Given the description of an element on the screen output the (x, y) to click on. 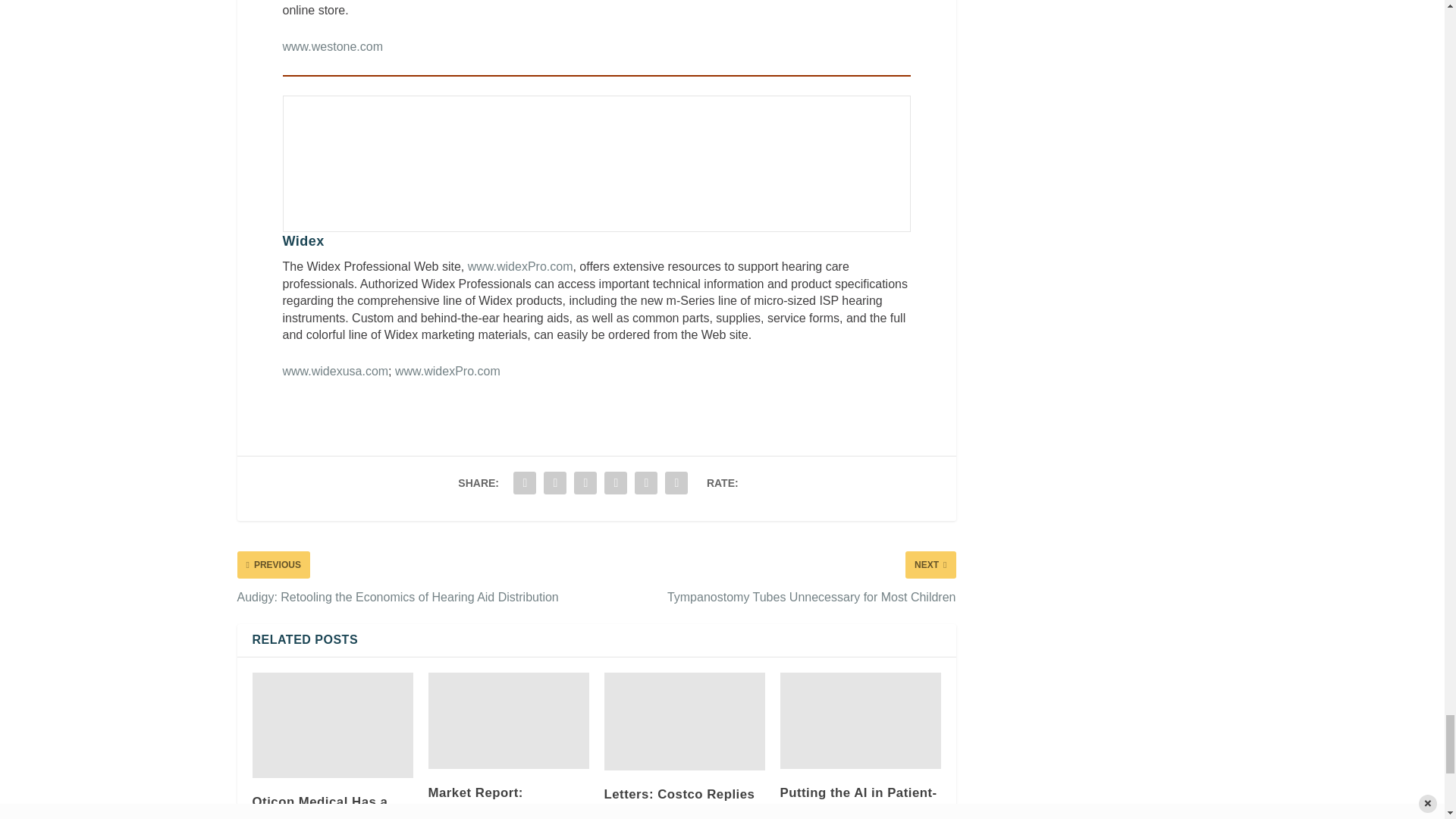
Share "HR 2008 Web Site Review" via Print (676, 482)
Share "HR 2008 Web Site Review" via Twitter (555, 482)
Share "HR 2008 Web Site Review" via LinkedIn (584, 482)
Share "HR 2008 Web Site Review" via Buffer (614, 482)
Market Report: Innovation Driving Hearing Aid Market (508, 719)
Putting the AI in Patient-centered Hearing Healthcare (859, 719)
Share "HR 2008 Web Site Review" via Facebook (524, 482)
Share "HR 2008 Web Site Review" via Email (645, 482)
